Given the description of an element on the screen output the (x, y) to click on. 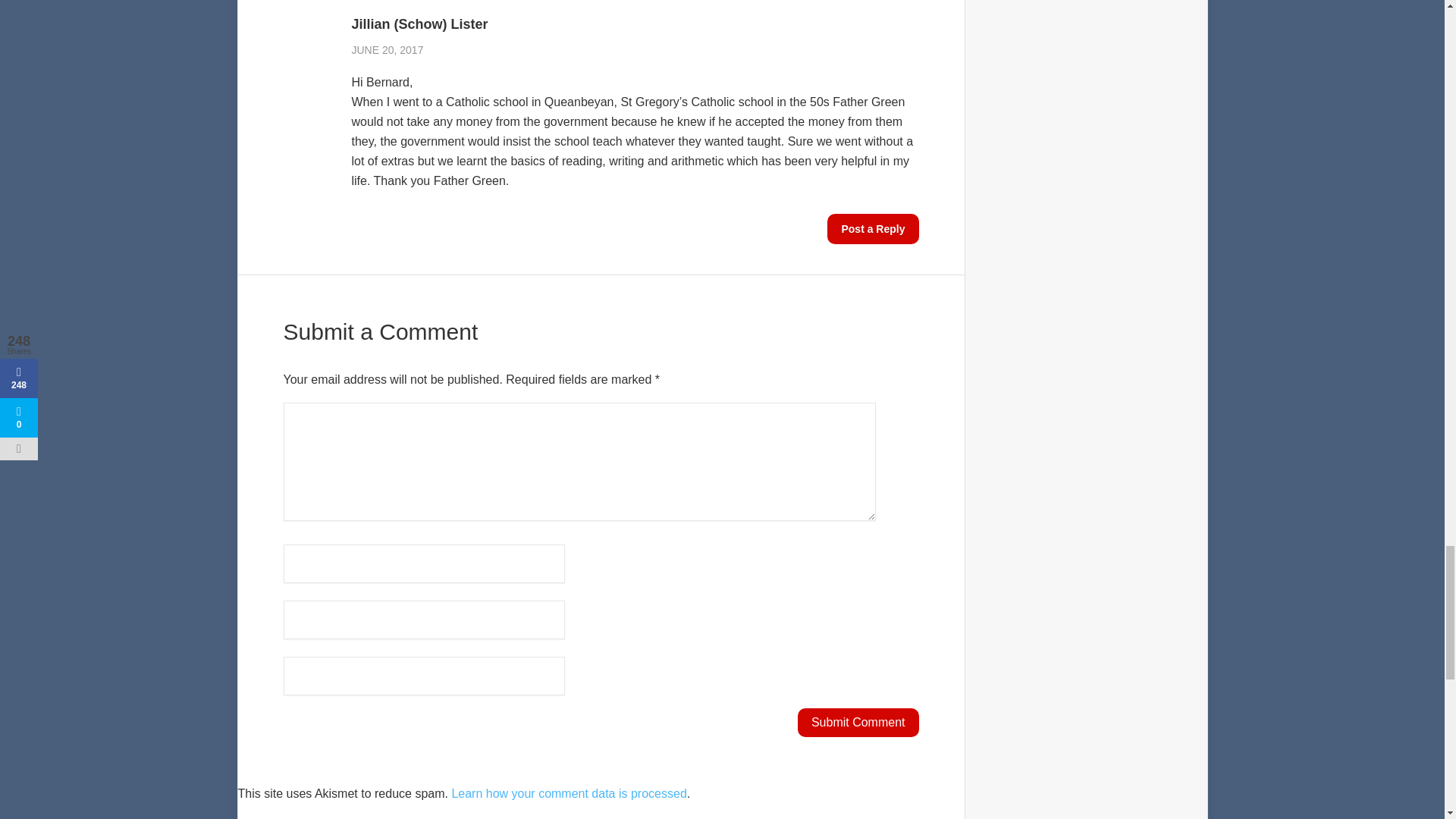
Submit Comment (857, 722)
